Given the description of an element on the screen output the (x, y) to click on. 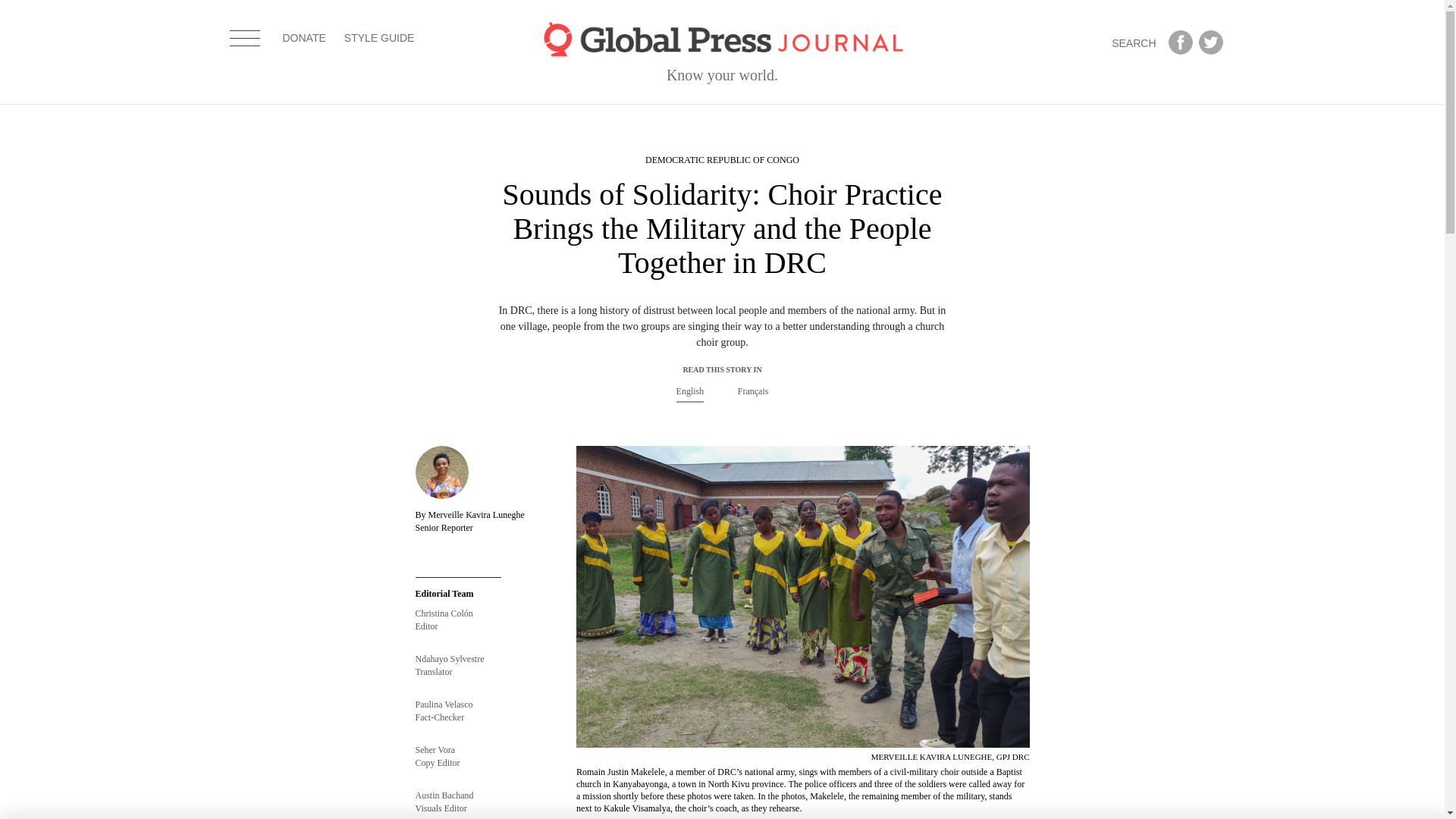
SEARCH (1136, 42)
Visit our Facebook (1179, 42)
Visit our Twitter (1210, 42)
STYLE GUIDE (378, 57)
English (690, 390)
Global Press Journal (722, 38)
